Given the description of an element on the screen output the (x, y) to click on. 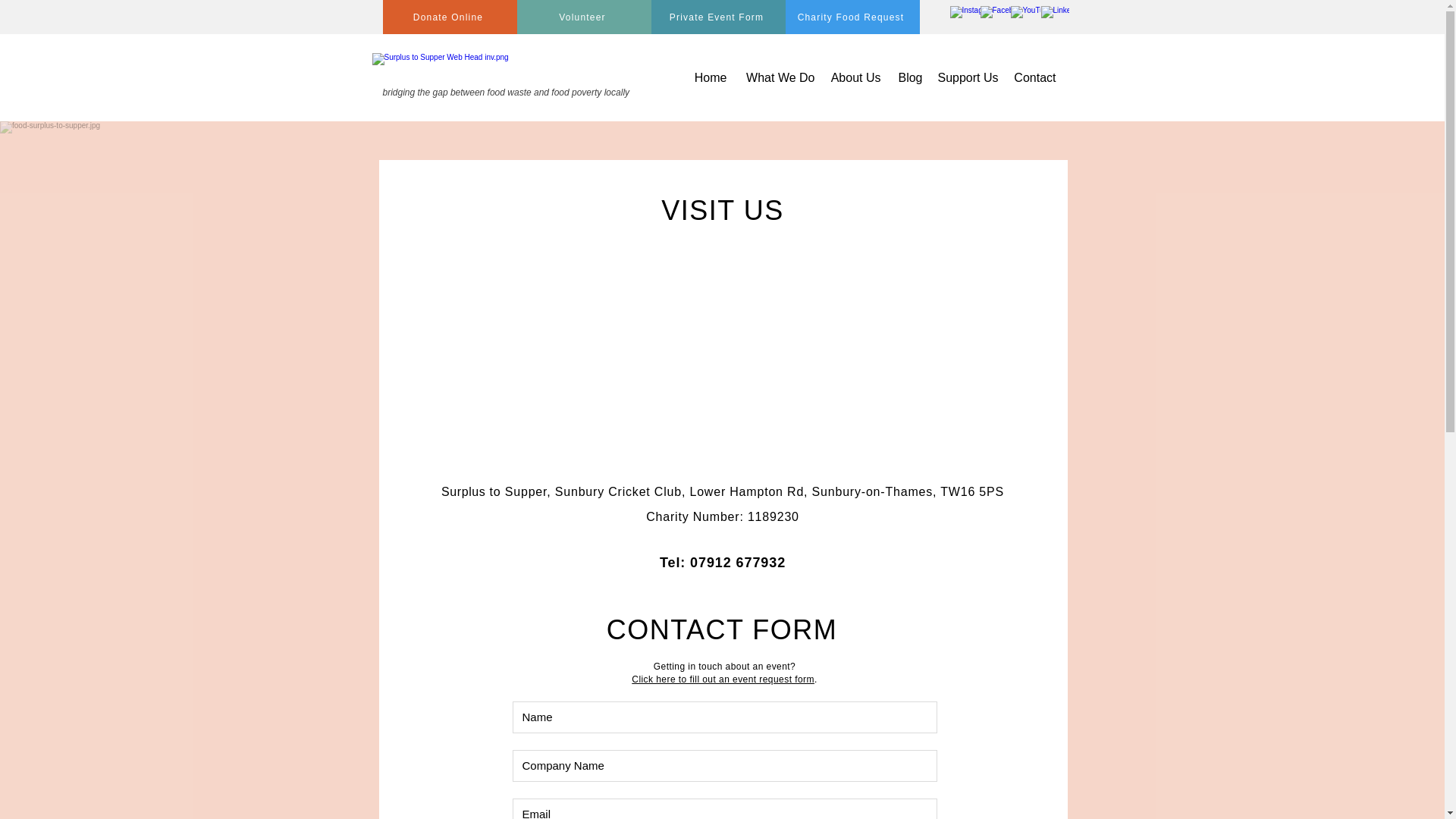
What We Do (777, 77)
Support Us (967, 77)
Contact (1035, 77)
Volunteer (583, 17)
Private Event Form (717, 17)
About Us (855, 77)
Charity Food Request (853, 17)
Blog (909, 77)
Donate Online (448, 17)
Home (709, 77)
